Given the description of an element on the screen output the (x, y) to click on. 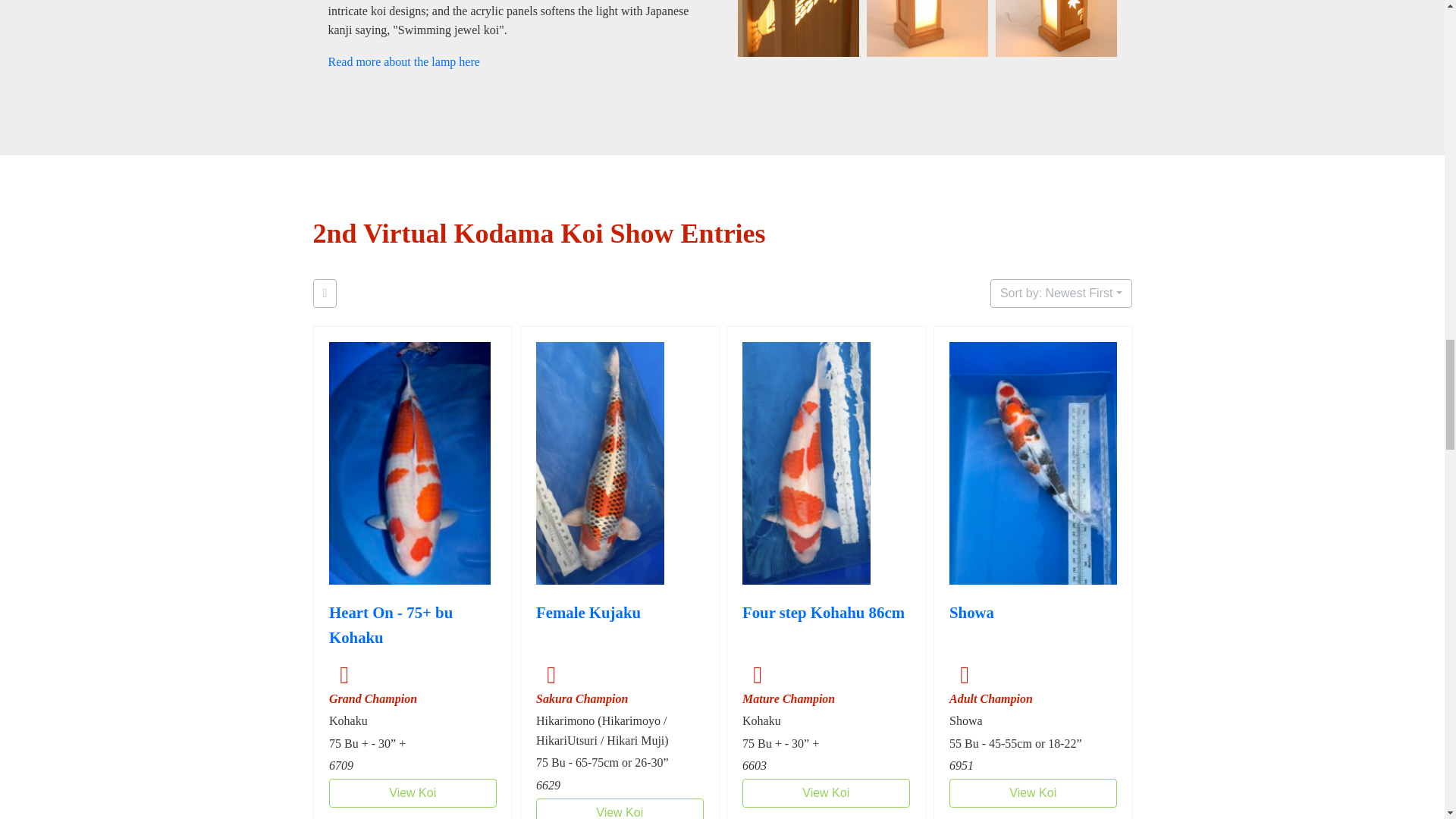
Read more about the lamp here (403, 61)
Showa (970, 627)
Female Kujaku (587, 627)
Four step Kohahu 86cm (822, 627)
